Given the description of an element on the screen output the (x, y) to click on. 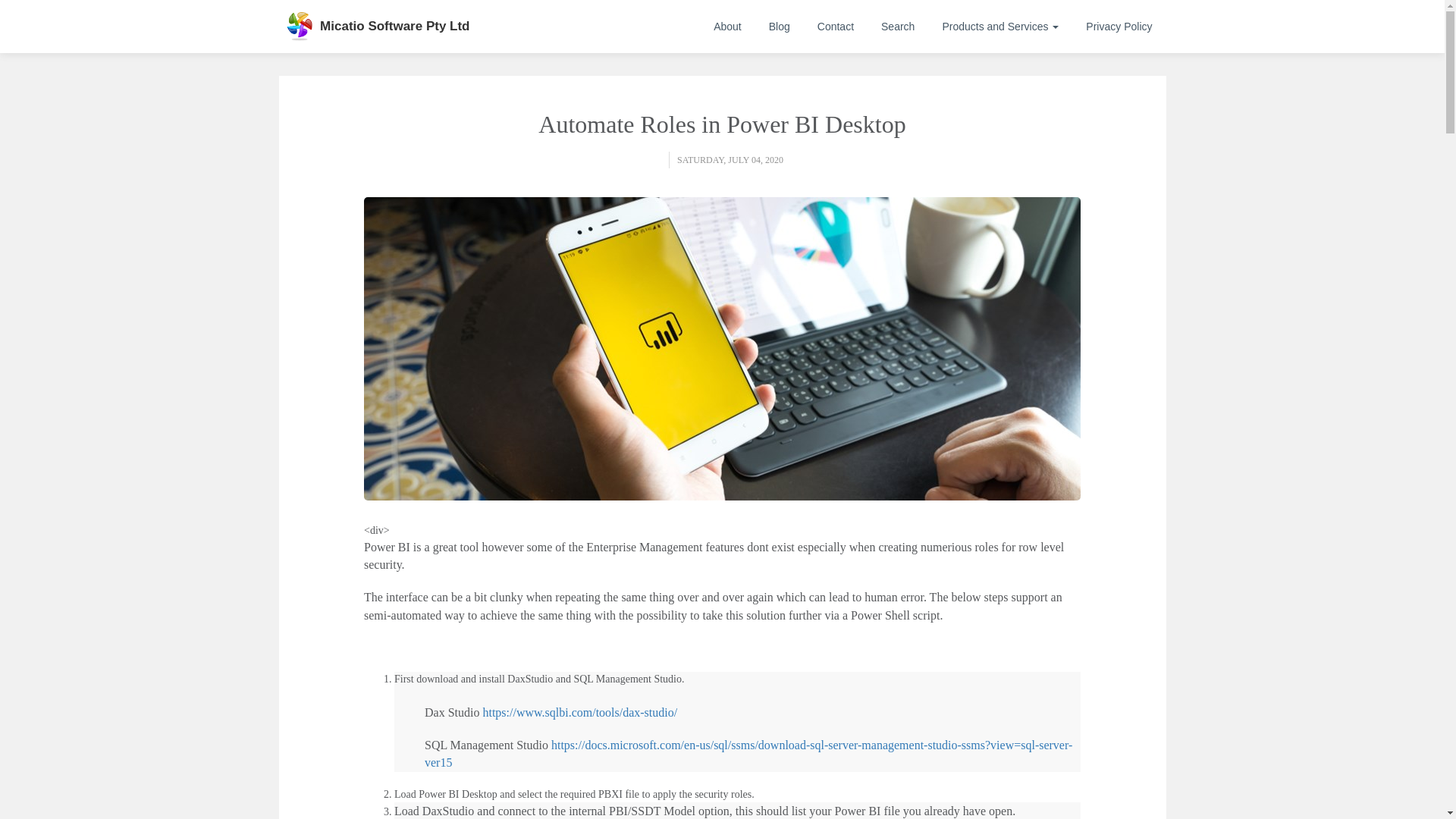
Products and Services (999, 26)
Privacy Policy (1118, 26)
Micatio Software Pty Ltd (394, 26)
About (727, 26)
Blog (779, 26)
Contact (835, 26)
Search (897, 26)
